Given the description of an element on the screen output the (x, y) to click on. 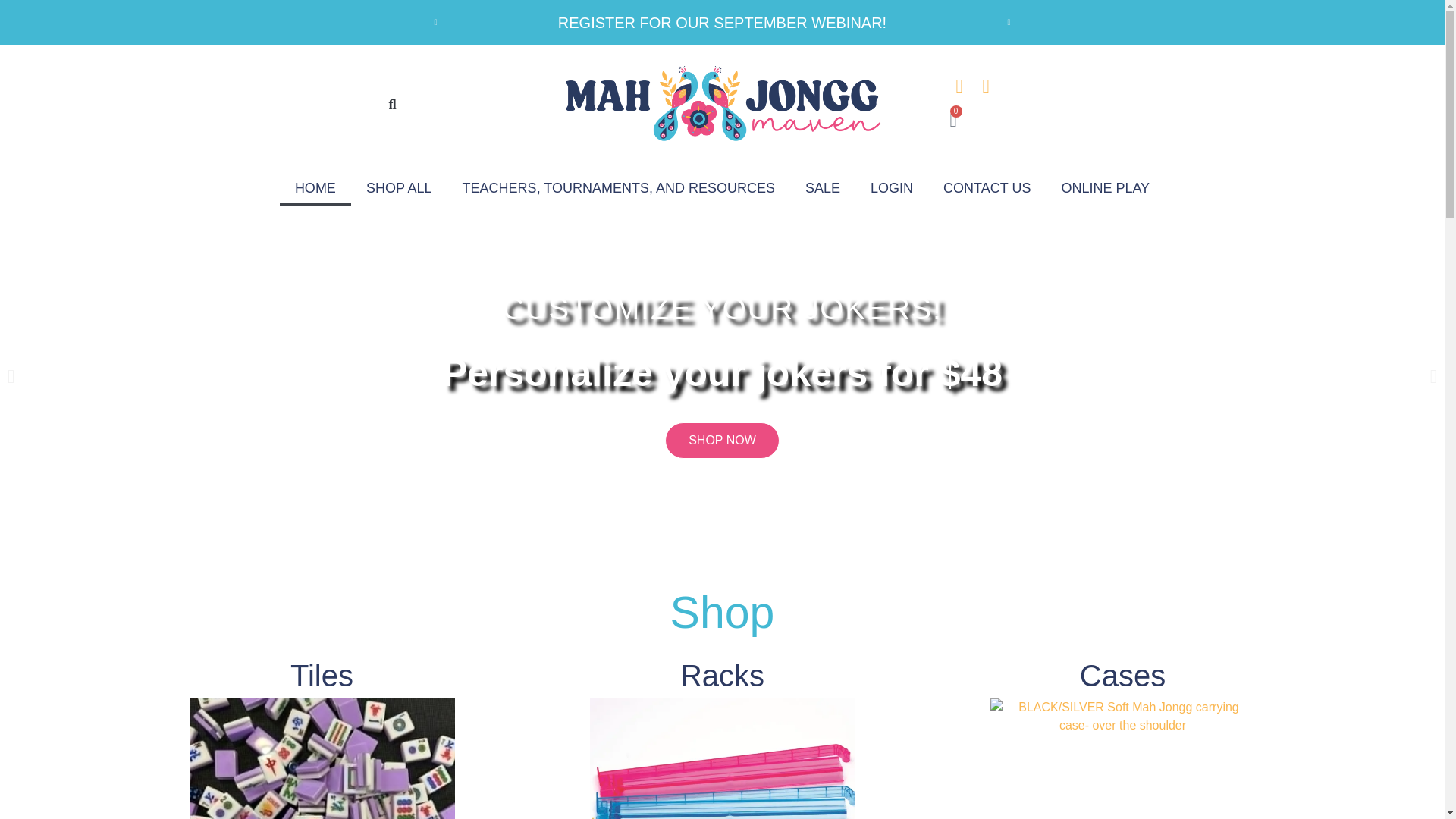
HOME (314, 187)
REGISTER FOR OUR SEPTEMBER WEBINAR! (721, 22)
SALE (823, 187)
SHOP ALL (398, 187)
SHOP NOW (721, 440)
TEACHERS, TOURNAMENTS, AND RESOURCES (618, 187)
CONTACT US (986, 187)
ONLINE PLAY (1104, 187)
LOGIN (892, 187)
